Given the description of an element on the screen output the (x, y) to click on. 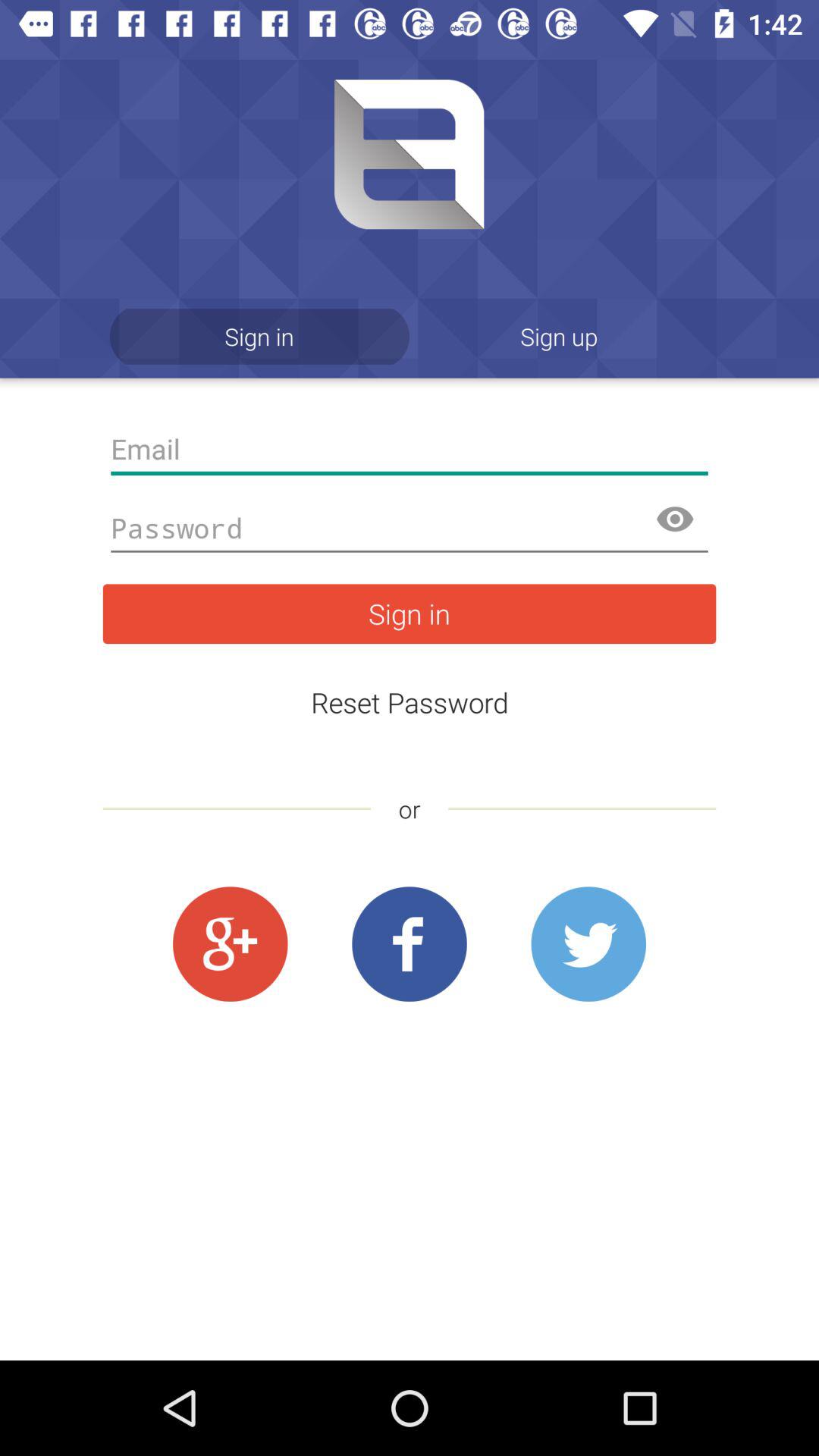
press icon next to the sign in (559, 336)
